Given the description of an element on the screen output the (x, y) to click on. 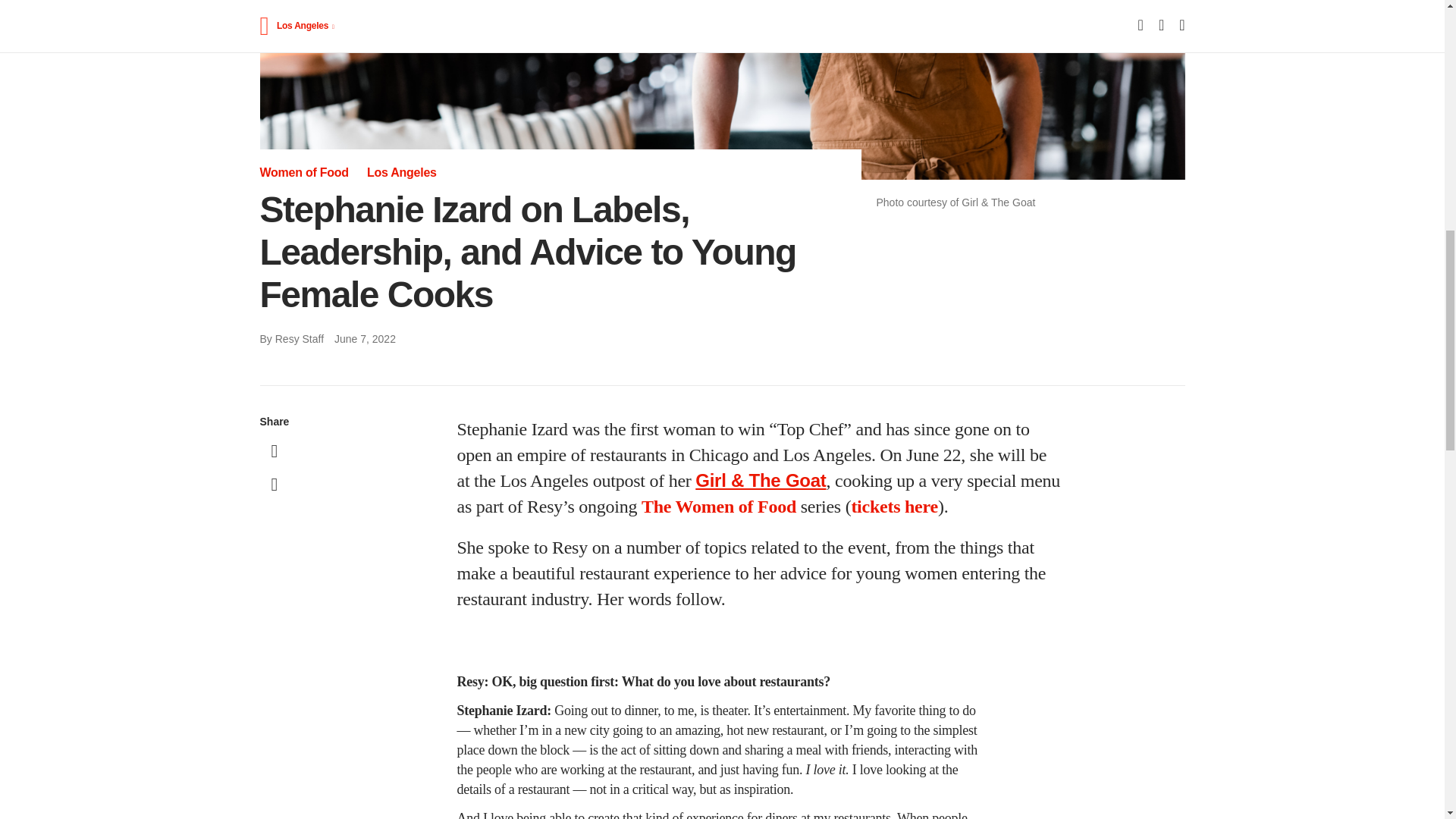
Posts by Resy Staff (299, 338)
